Given the description of an element on the screen output the (x, y) to click on. 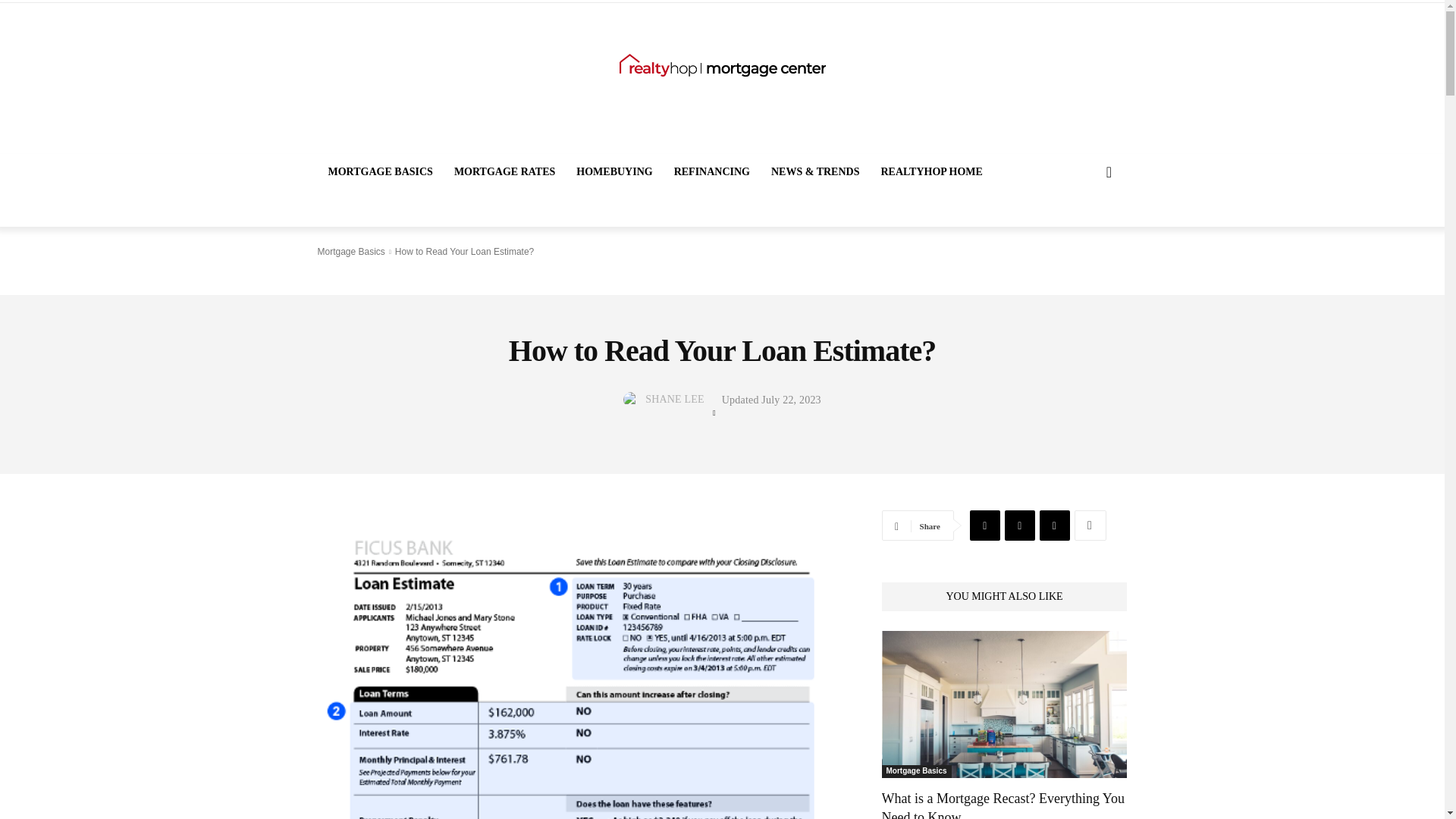
REALTYHOP HOME (930, 171)
View all posts in Mortgage Basics (350, 251)
Mortgage Basics (350, 251)
Twitter (1019, 525)
REFINANCING (711, 171)
MORTGAGE RATES (505, 171)
MORTGAGE BASICS (379, 171)
SHANE LEE (674, 398)
Shane Lee (633, 399)
HOMEBUYING (614, 171)
Facebook (984, 525)
